Given the description of an element on the screen output the (x, y) to click on. 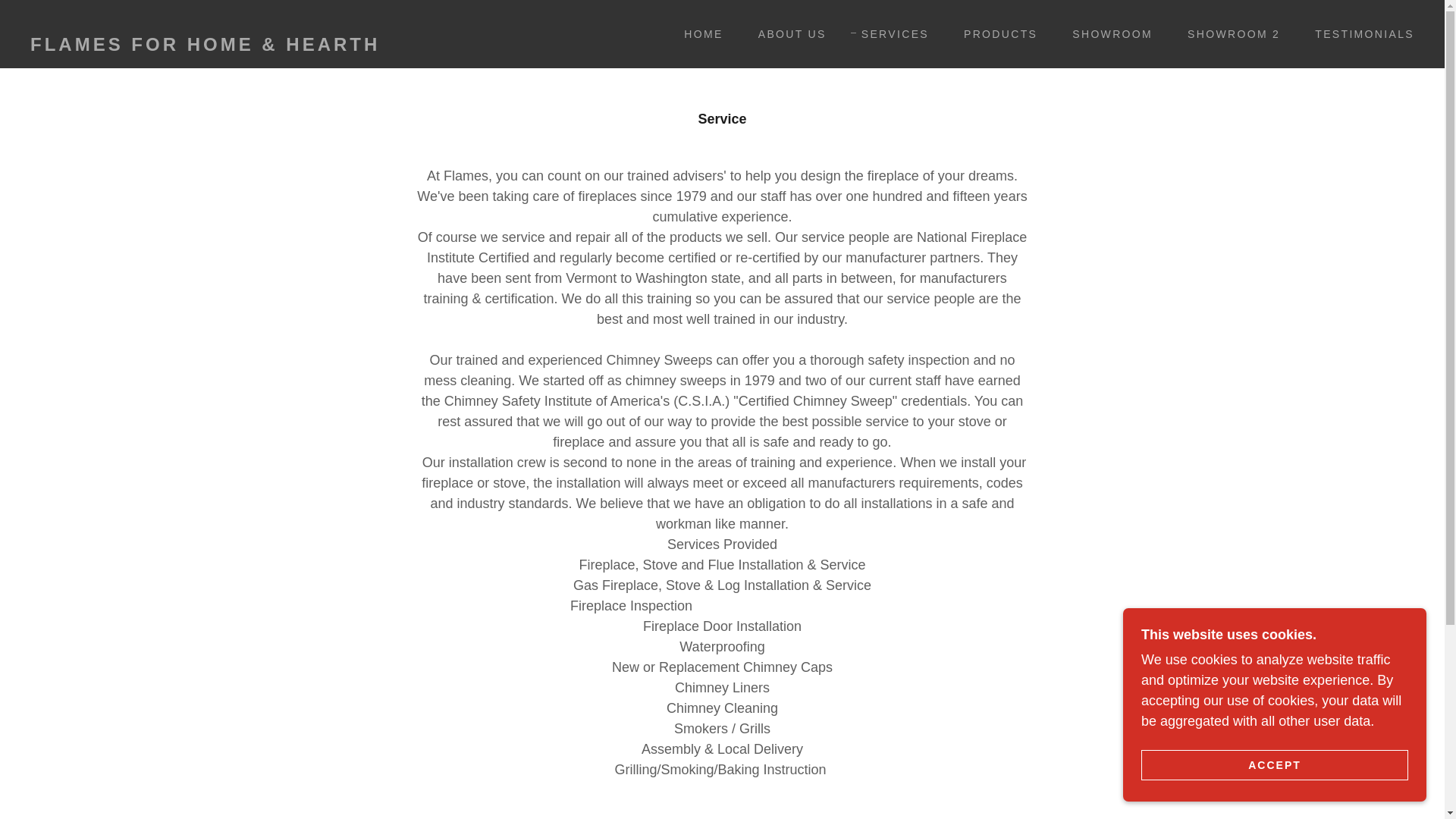
SHOWROOM 2 (1228, 33)
SERVICES (889, 34)
TESTIMONIALS (1359, 33)
SHOWROOM (1107, 33)
ABOUT US (786, 33)
PRODUCTS (995, 33)
ACCEPT (1274, 764)
HOME (697, 33)
